Given the description of an element on the screen output the (x, y) to click on. 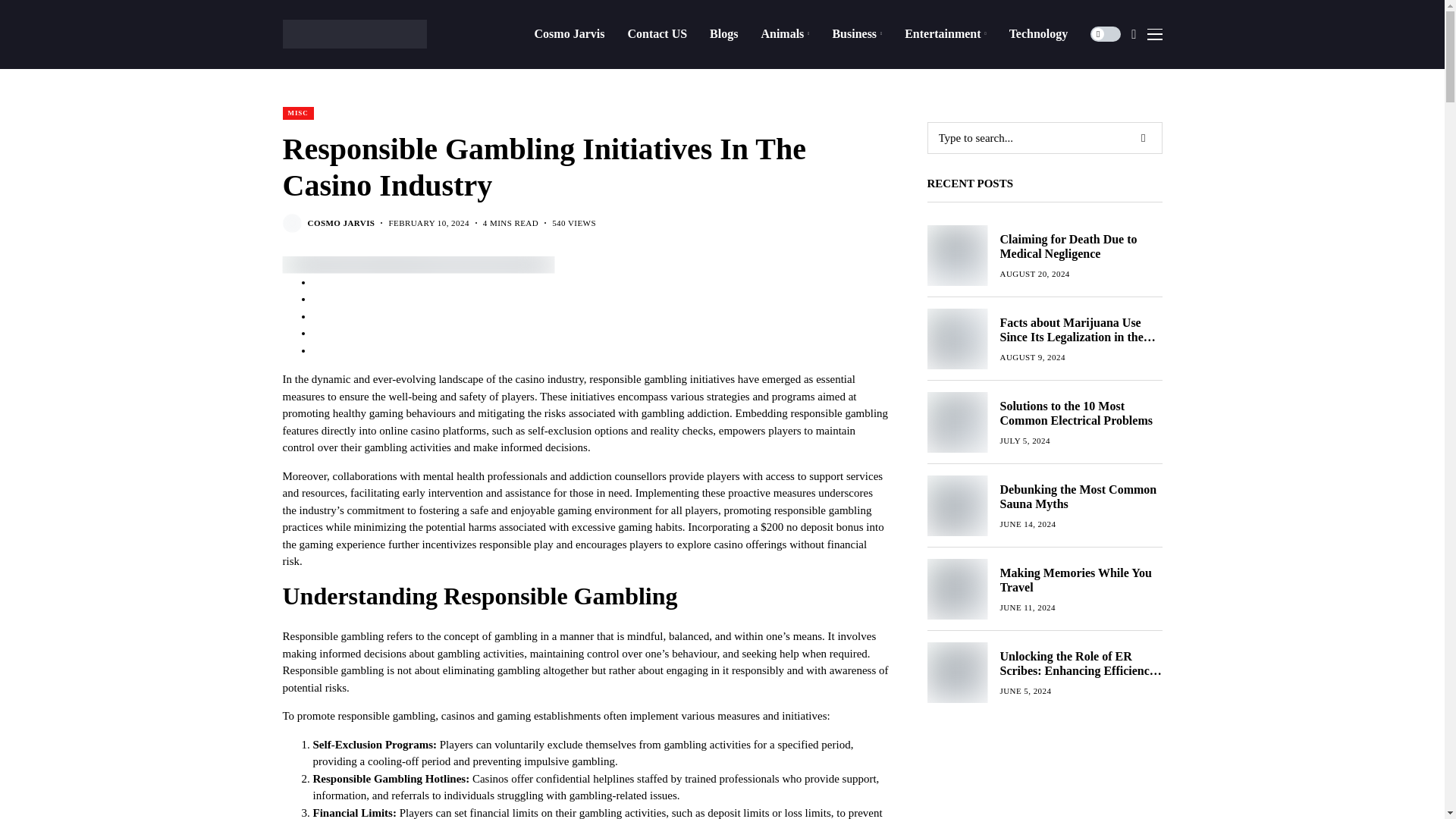
Cosmo Jarvis (569, 33)
Posts by Cosmo Jarvis (341, 223)
Entertainment (944, 33)
